Given the description of an element on the screen output the (x, y) to click on. 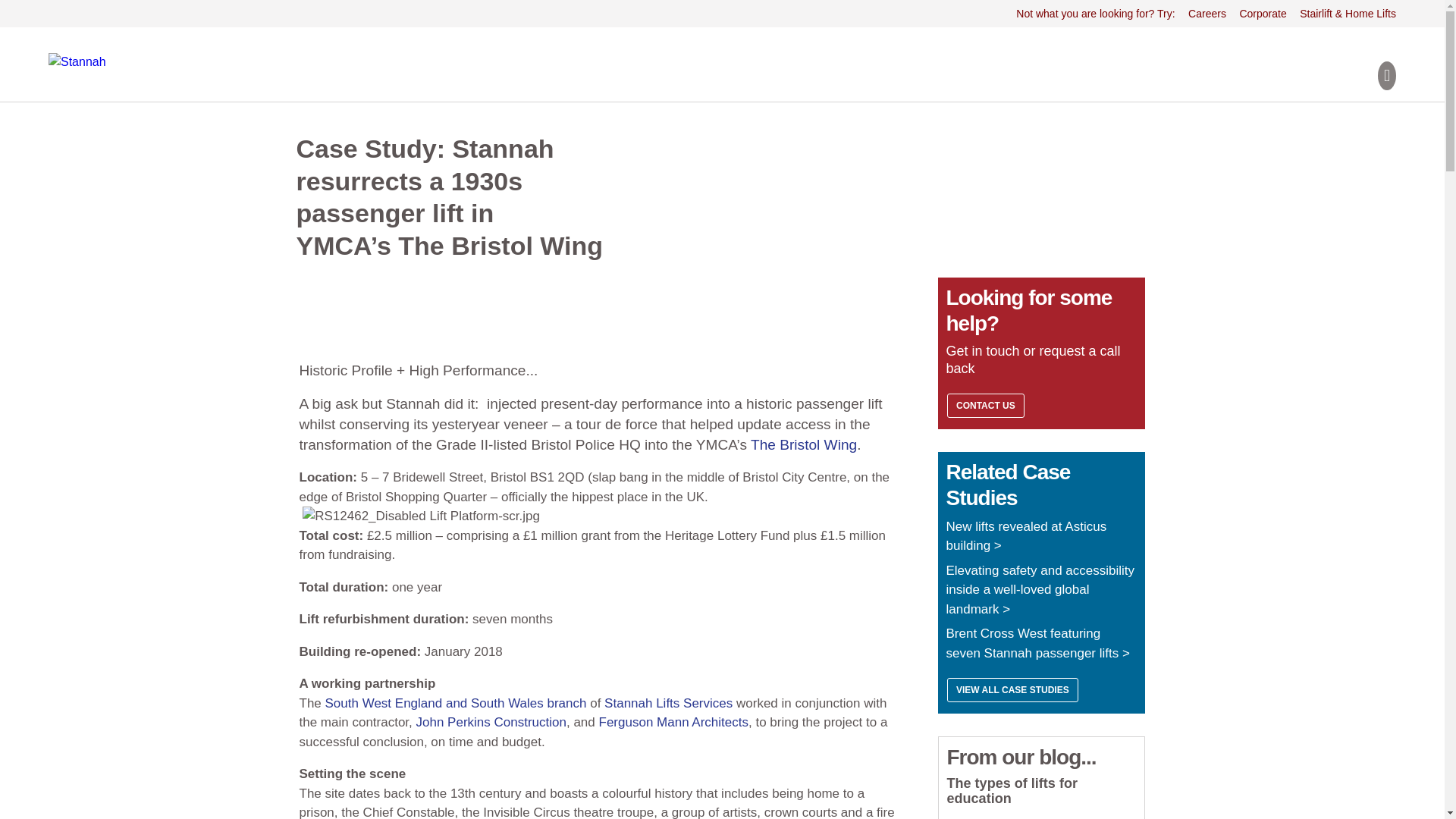
Products (619, 185)
Services (719, 185)
